Given the description of an element on the screen output the (x, y) to click on. 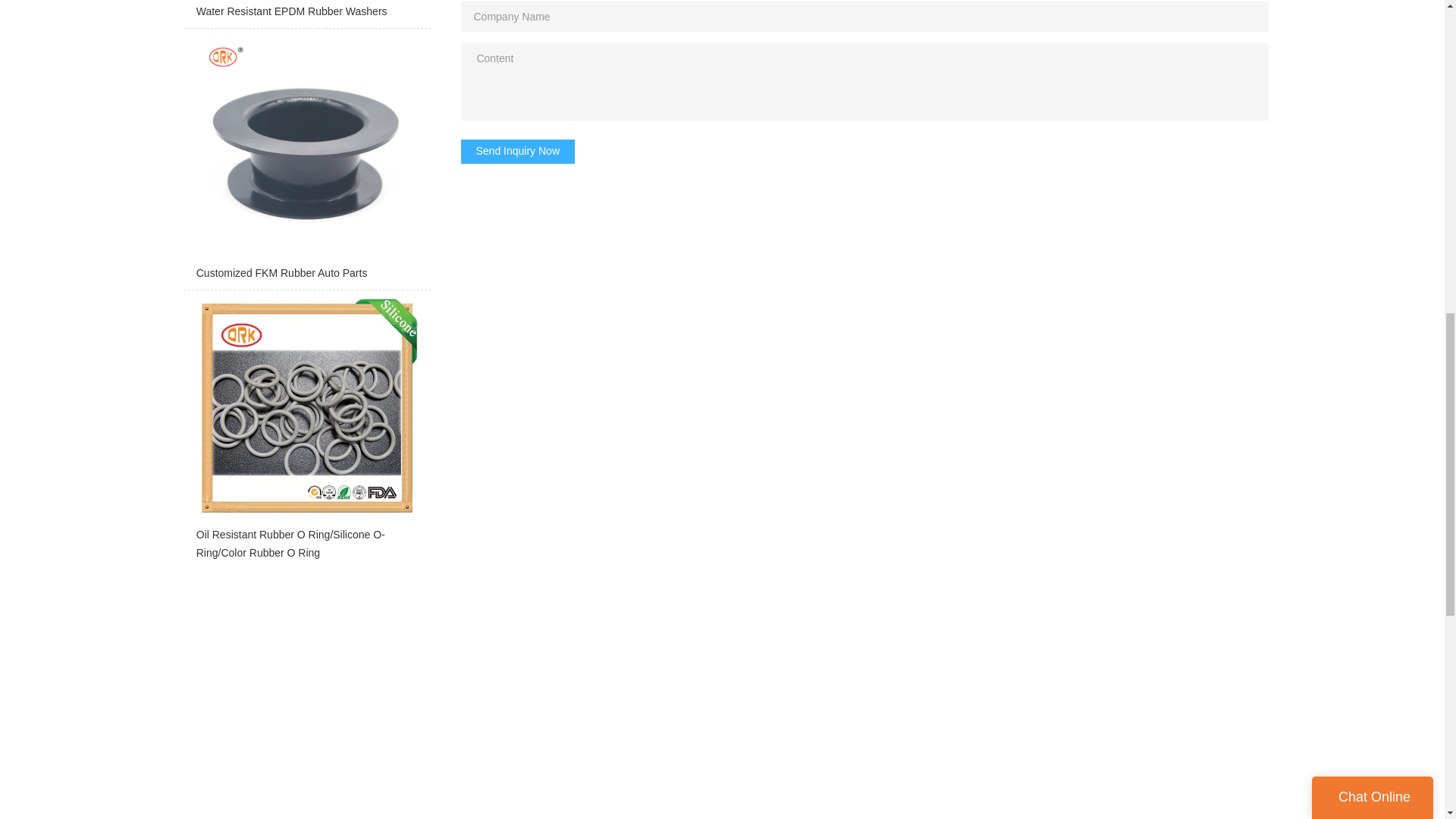
Water Resistant EPDM Rubber Washers (306, 13)
Send Inquiry Now (518, 151)
Customized FKM Rubber Auto Parts (306, 162)
